Given the description of an element on the screen output the (x, y) to click on. 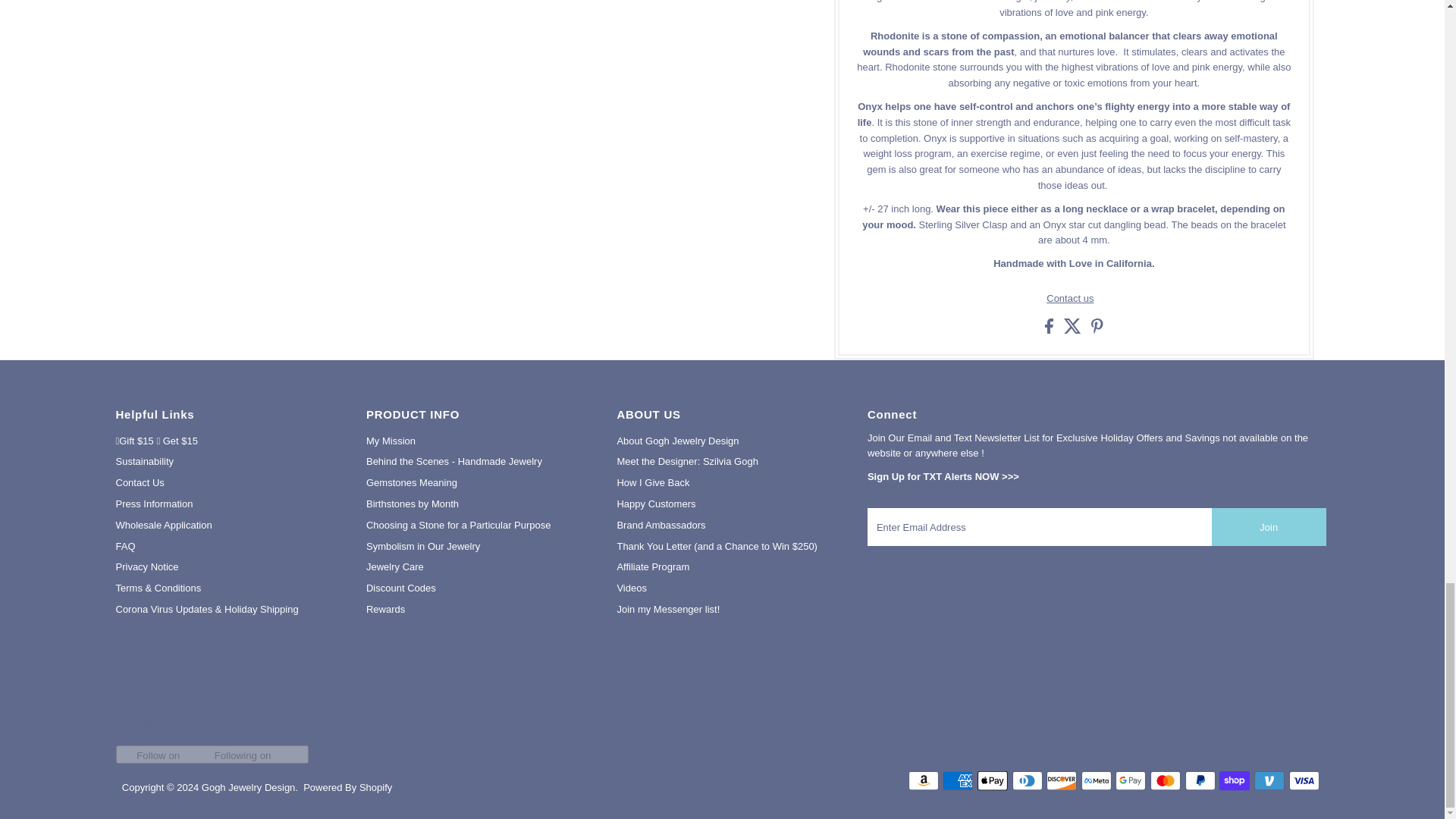
Join (1268, 526)
